Given the description of an element on the screen output the (x, y) to click on. 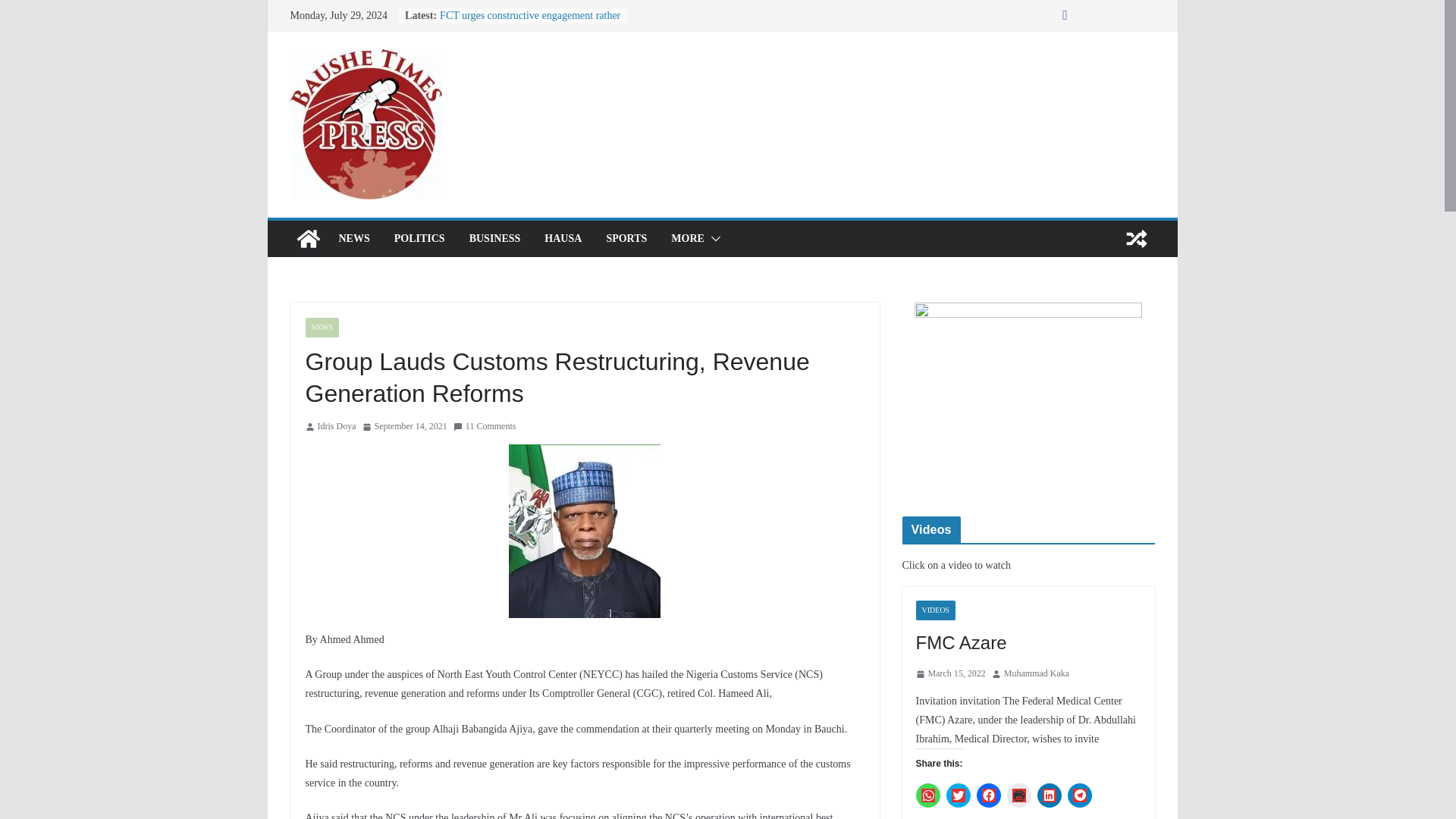
SPORTS (625, 238)
BUSINESS (494, 238)
NEWS (320, 327)
12:11 pm (404, 426)
MORE (687, 238)
View a random post (1136, 238)
Idris Doya (336, 426)
POLITICS (419, 238)
Baushe Daily Times (307, 238)
HAUSA (562, 238)
Idris Doya (336, 426)
NEWS (353, 238)
11 Comments (484, 426)
September 14, 2021 (404, 426)
